Given the description of an element on the screen output the (x, y) to click on. 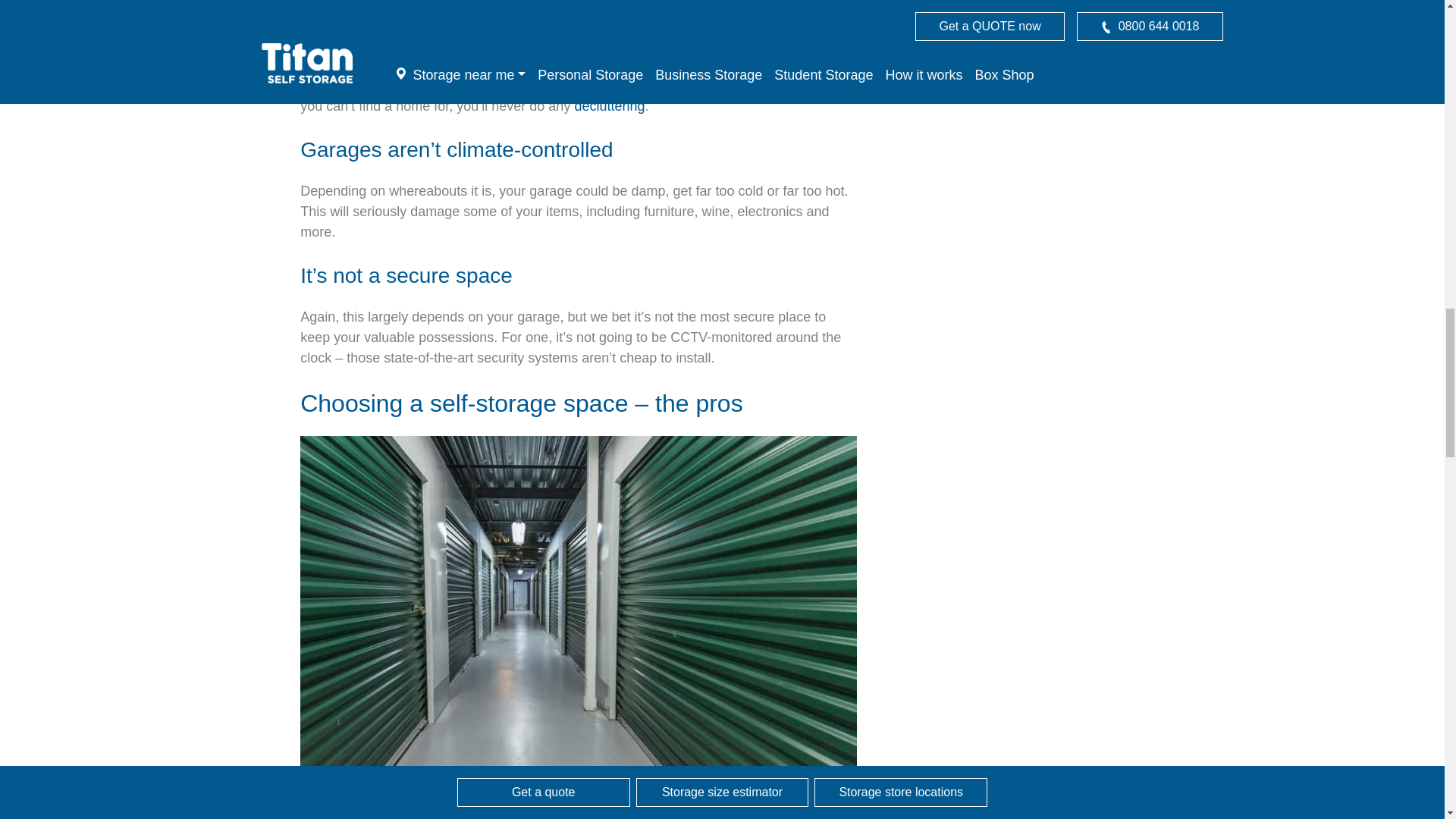
decluttering (609, 105)
